Given the description of an element on the screen output the (x, y) to click on. 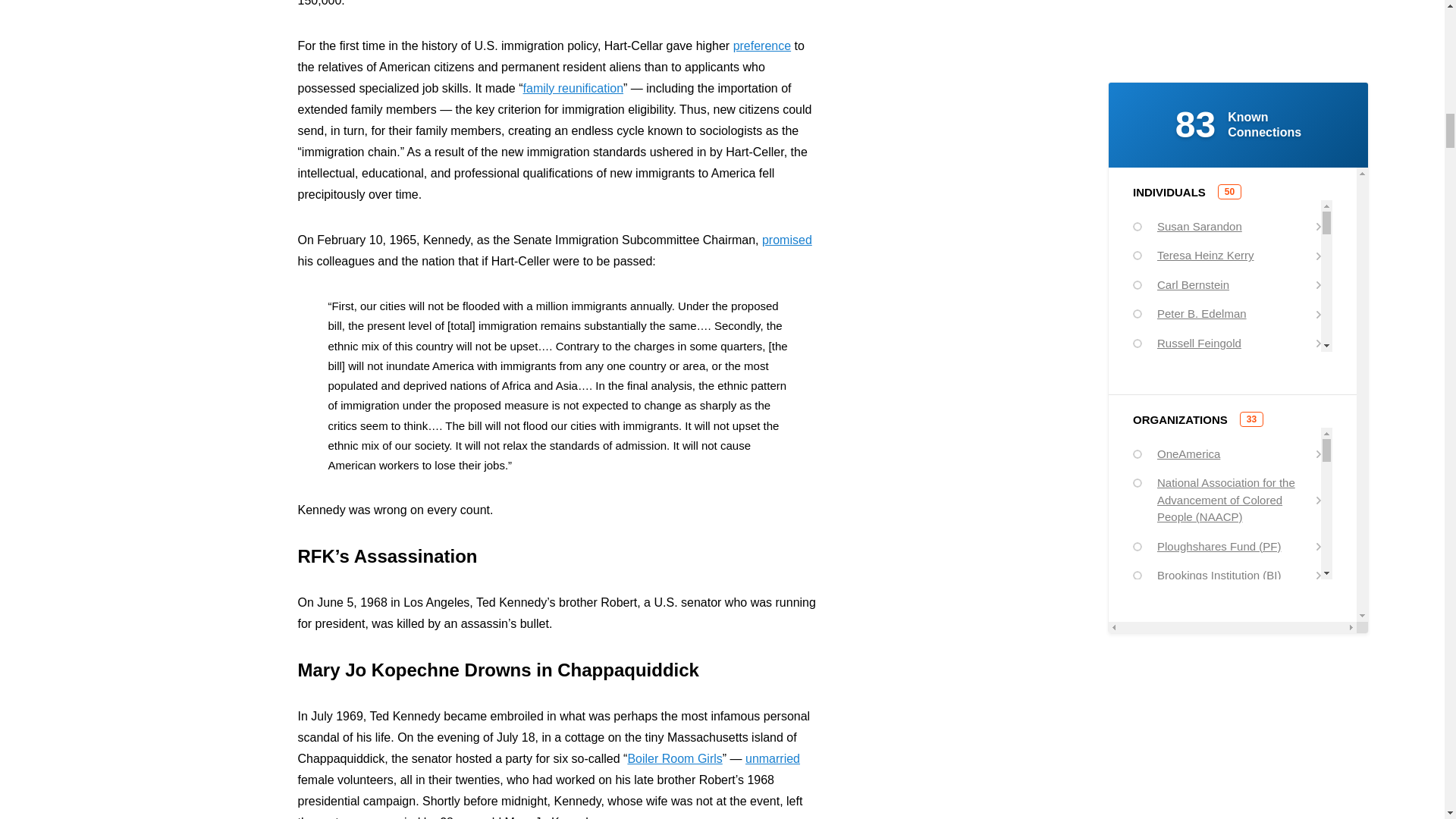
unmarried (772, 758)
preference (762, 45)
Boiler Room Girls (674, 758)
promised (786, 239)
family reunification (573, 88)
